Given the description of an element on the screen output the (x, y) to click on. 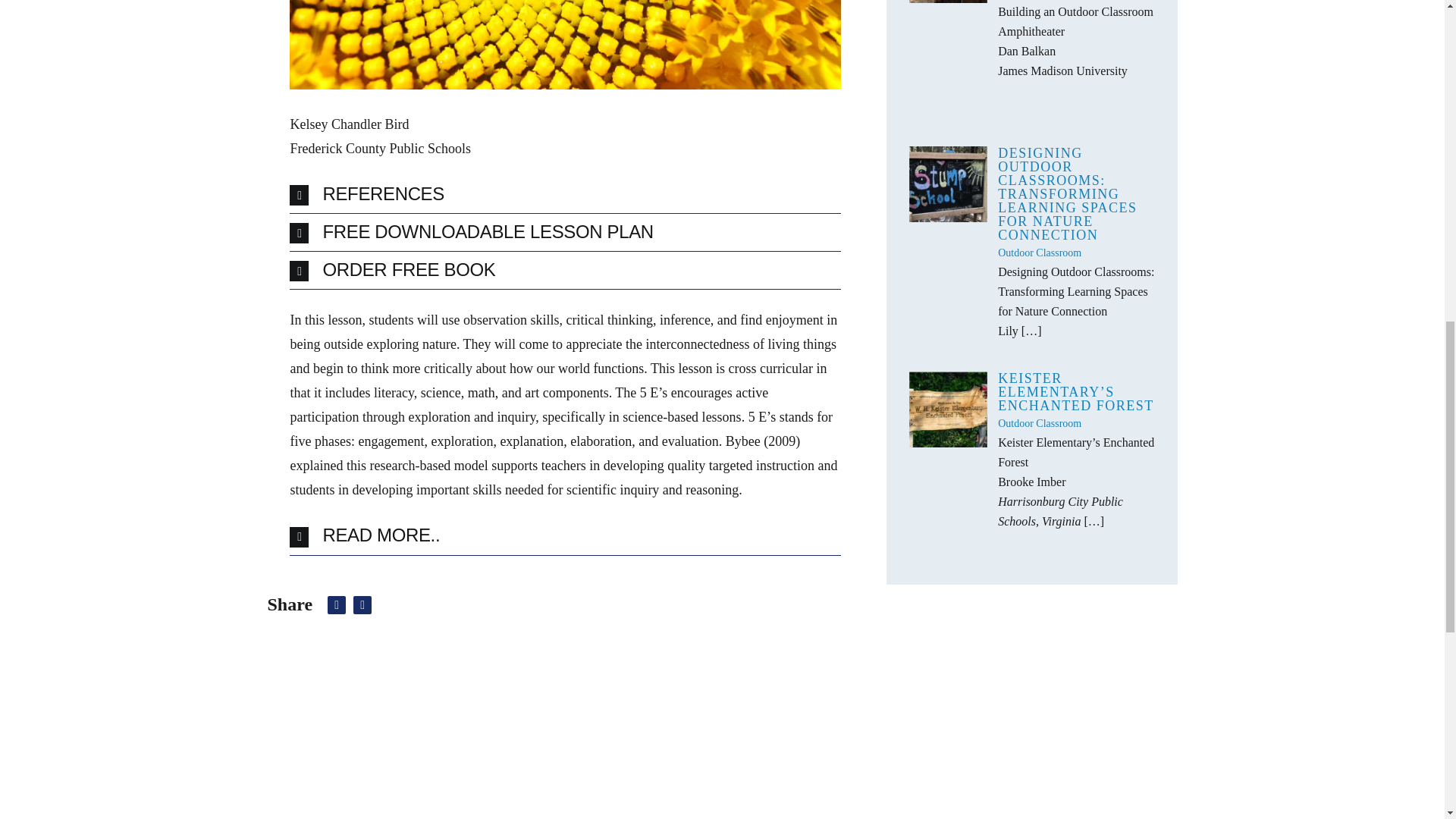
READ MORE.. (564, 535)
REFERENCES (564, 194)
FREE DOWNLOADABLE LESSON PLAN (564, 231)
patterns-nature (564, 44)
ORDER FREE BOOK (564, 270)
